Given the description of an element on the screen output the (x, y) to click on. 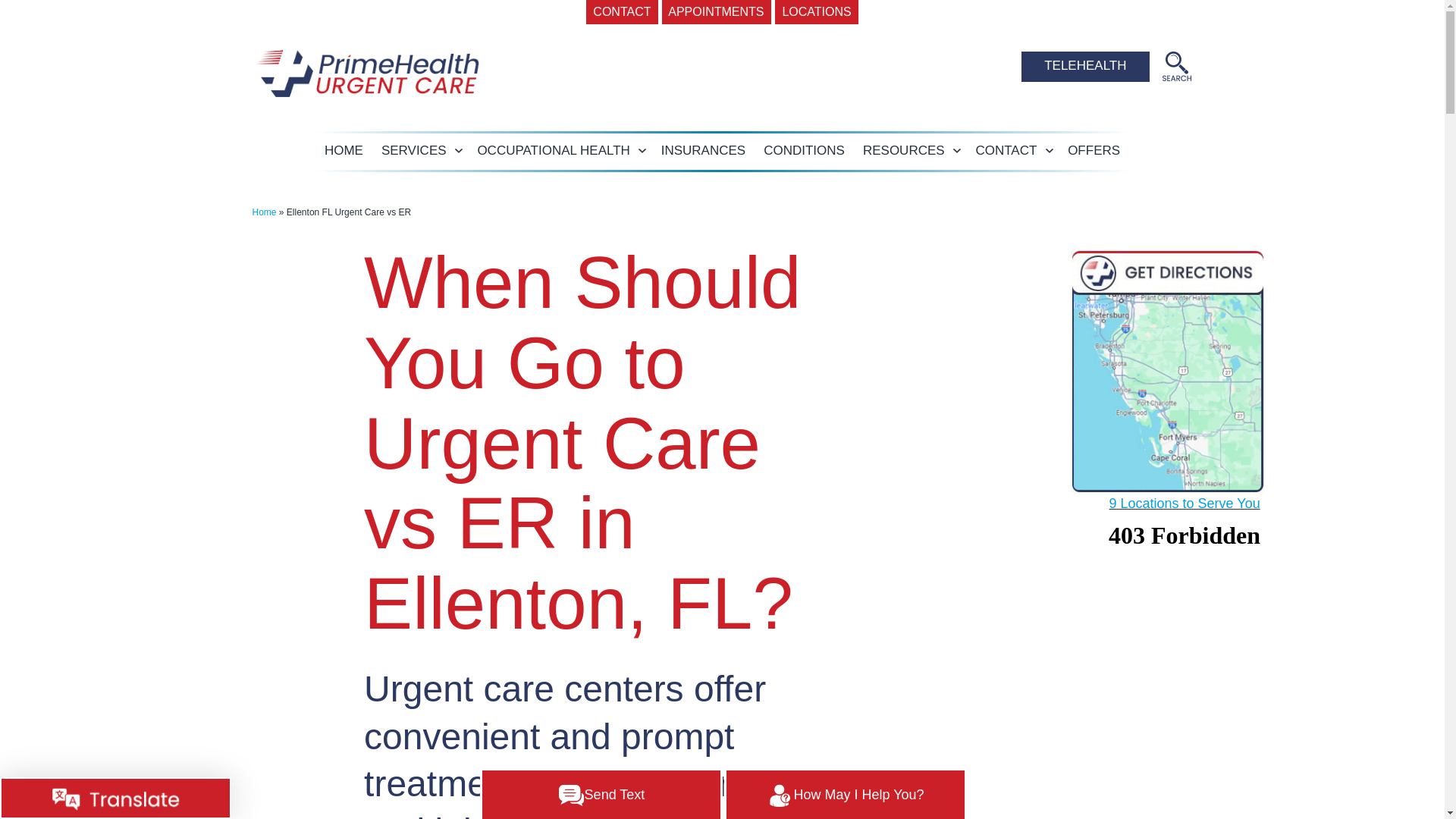
HOME (343, 151)
LOCATIONS (816, 12)
CONTACT (622, 12)
APPOINTMENTS (716, 12)
SERVICES (413, 151)
TELEHEALTH (1085, 66)
OCCUPATIONAL HEALTH (553, 151)
